Given the description of an element on the screen output the (x, y) to click on. 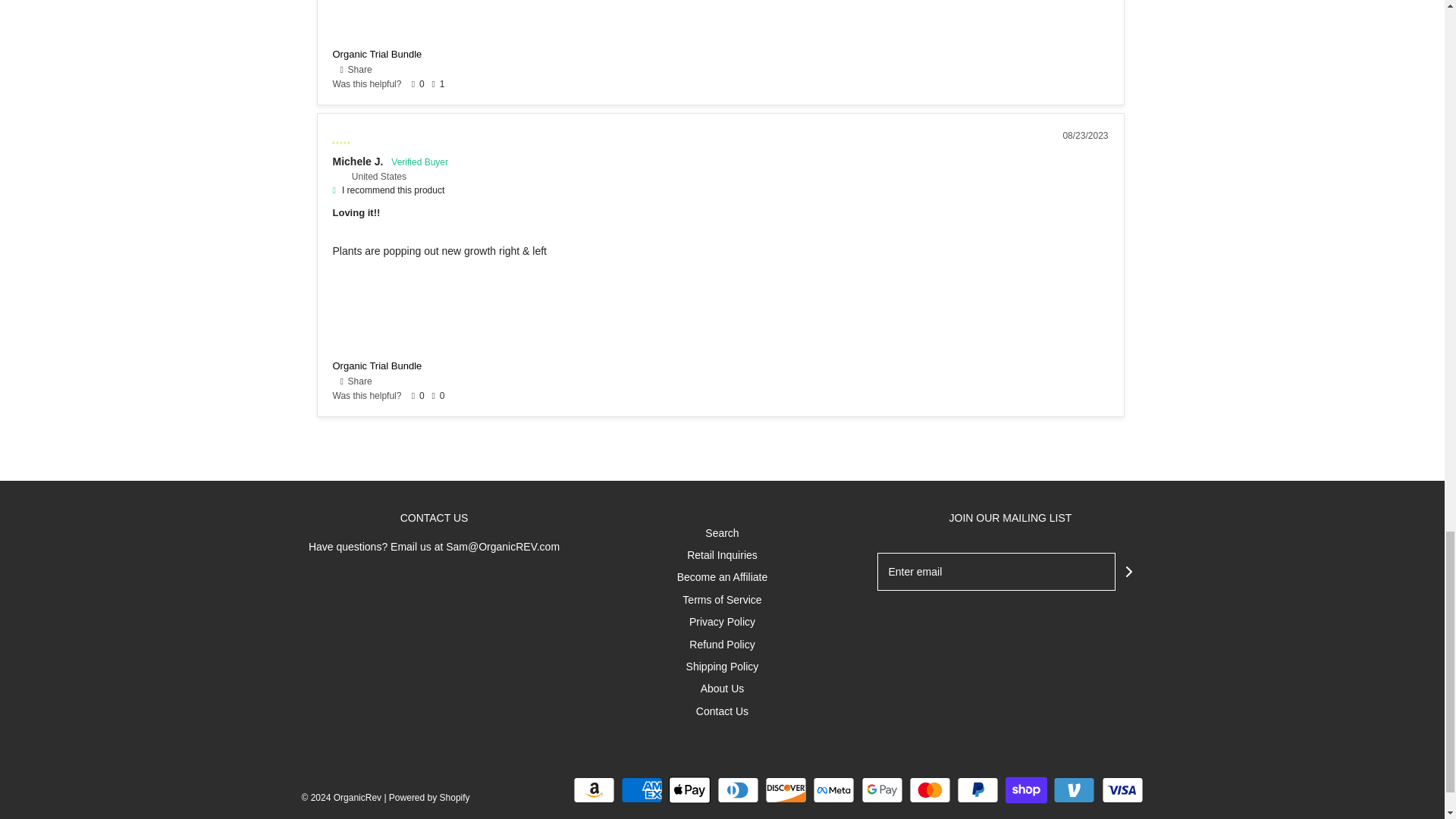
Diners Club (737, 789)
Discover (785, 789)
Shop Pay (1026, 789)
Google Pay (881, 789)
Meta Pay (833, 789)
Mastercard (929, 789)
PayPal (977, 789)
American Express (641, 789)
Visa (1121, 789)
Amazon (593, 789)
Apple Pay (689, 789)
Venmo (1073, 789)
